Given the description of an element on the screen output the (x, y) to click on. 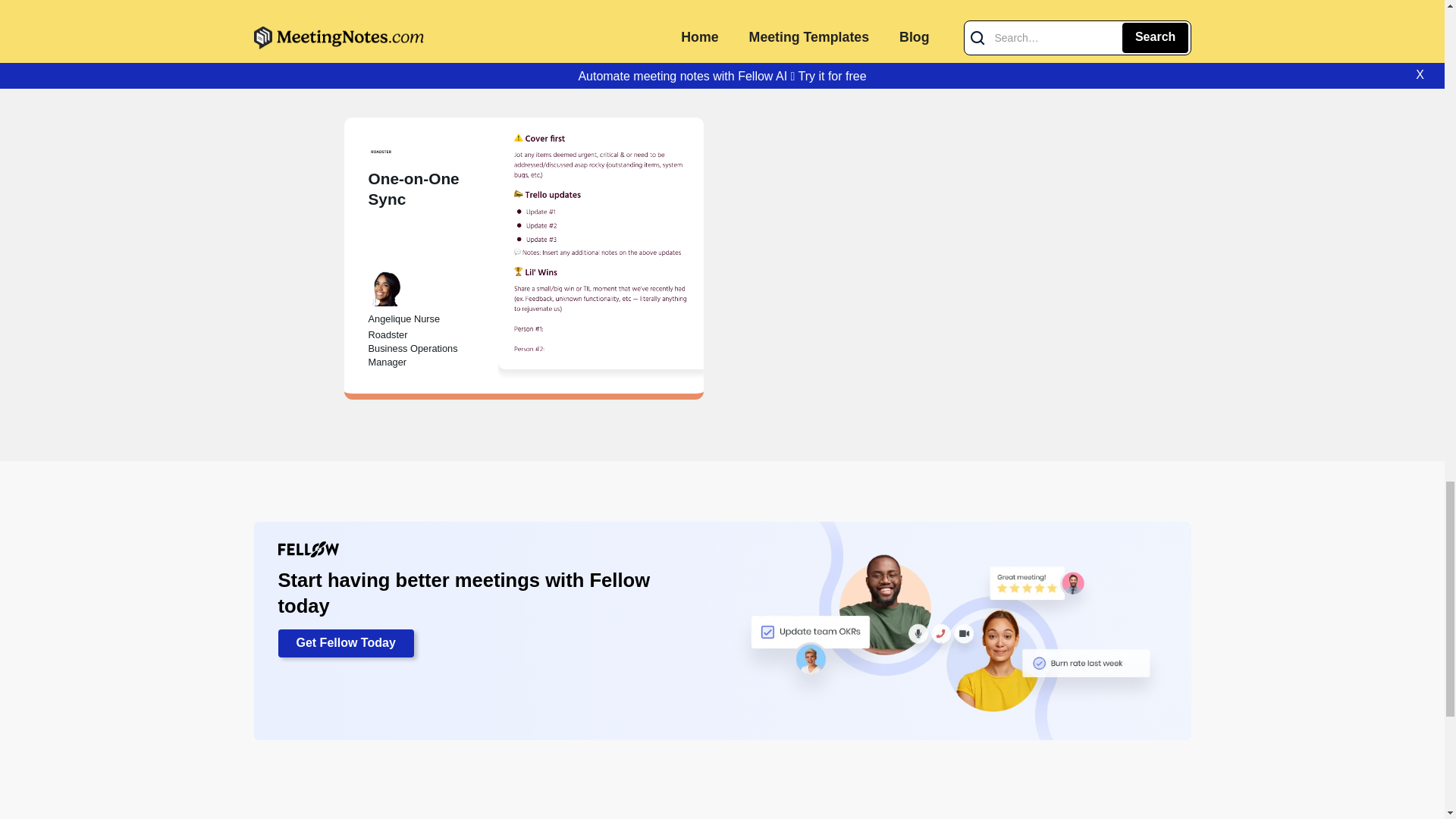
Get Fellow Today (345, 643)
